Given the description of an element on the screen output the (x, y) to click on. 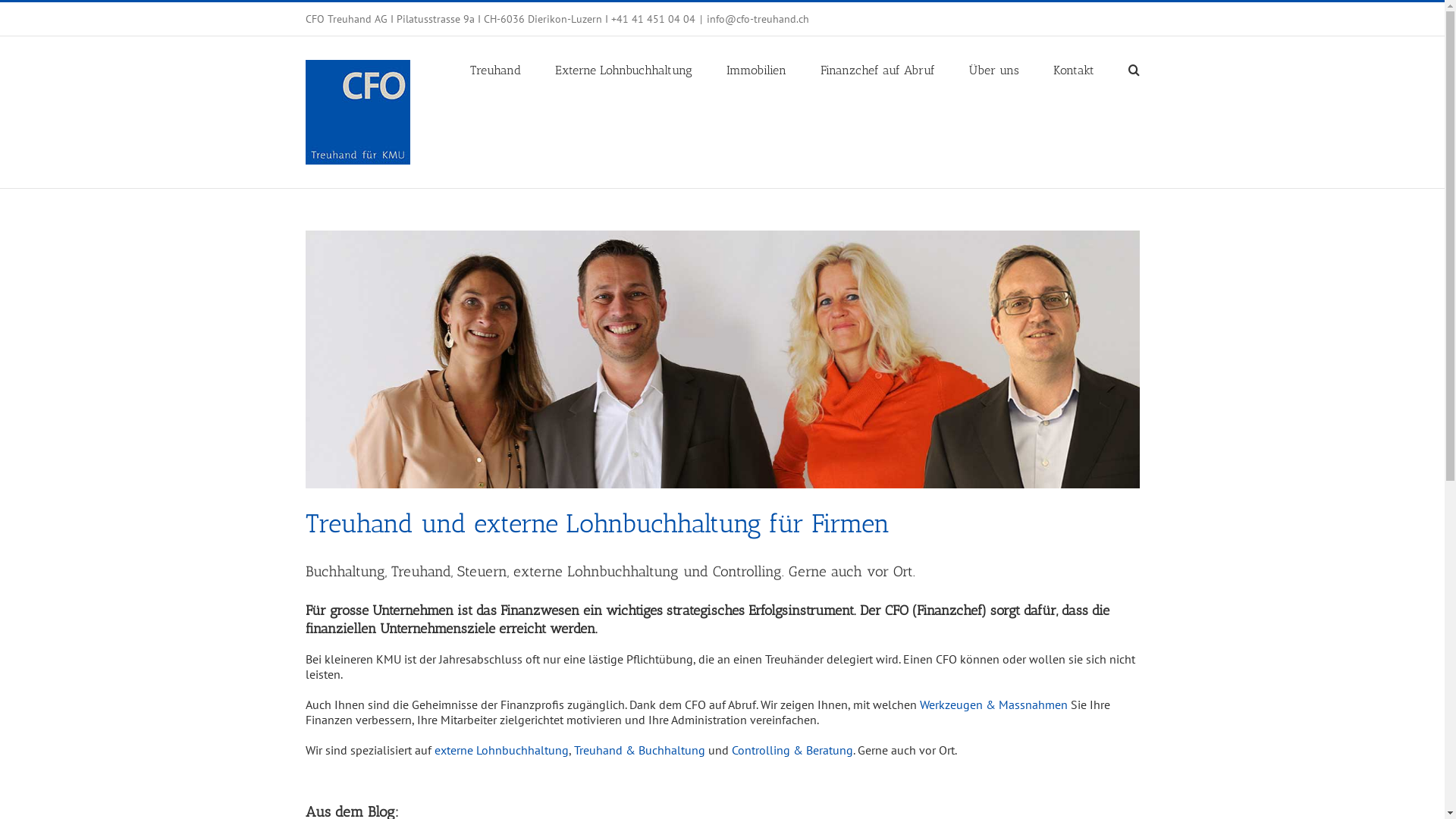
Werkzeugen & Massnahmen Element type: text (992, 704)
info@cfo-treuhand.ch Element type: text (757, 18)
Treuhand & Buchhaltung Element type: text (638, 749)
externe Lohnbuchhaltung Element type: text (500, 749)
Treuhand Element type: text (495, 68)
Externe Lohnbuchhaltung Element type: text (623, 68)
Controlling & Beratung Element type: text (791, 749)
Immobilien Element type: text (756, 68)
Finanzchef auf Abruf Element type: text (877, 68)
Kontakt Element type: text (1072, 68)
